Given the description of an element on the screen output the (x, y) to click on. 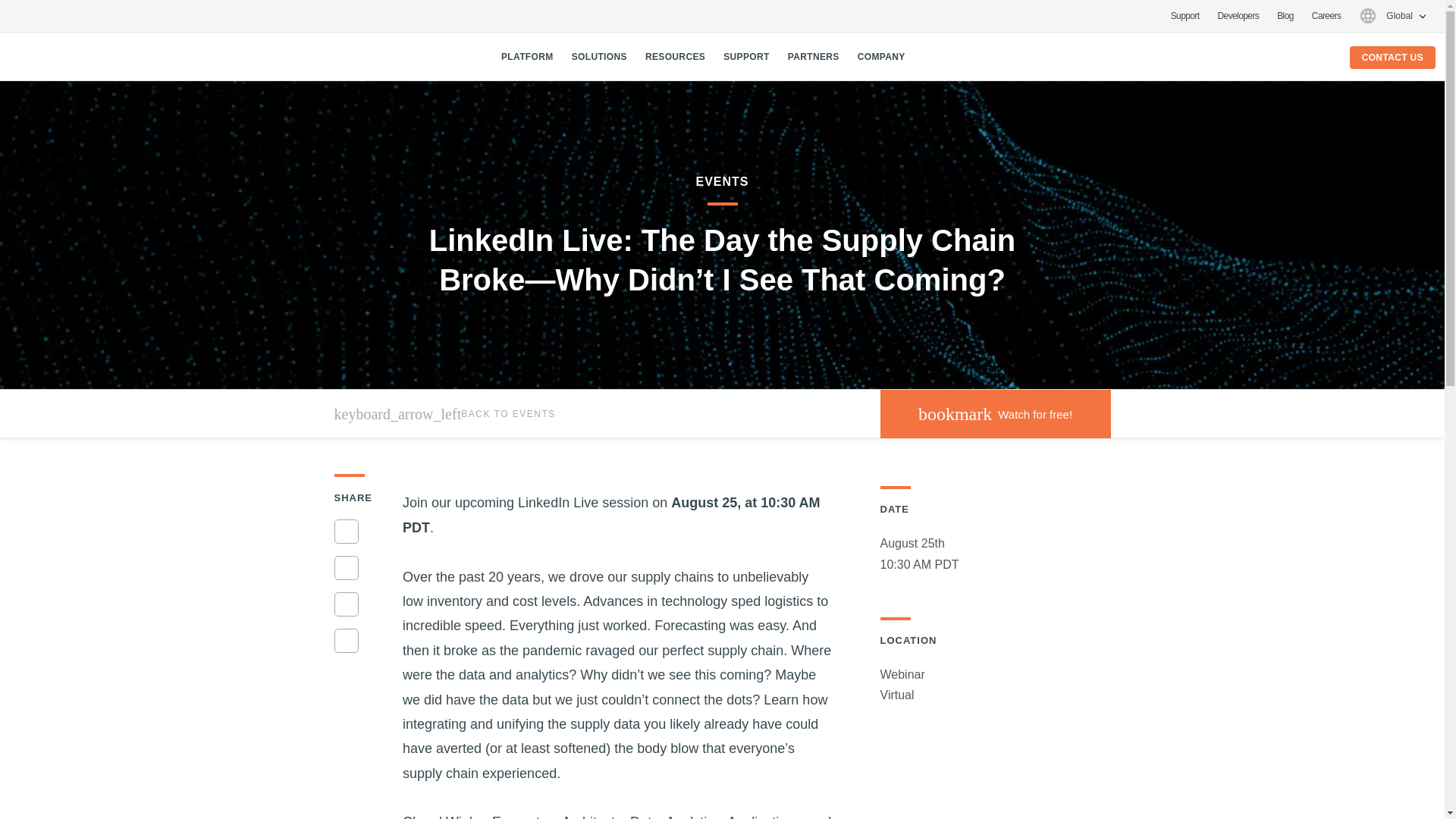
Blog (1285, 15)
Global (1392, 15)
PARTNERS (813, 55)
PLATFORM (526, 55)
CONTACT US (1392, 56)
Careers (1325, 15)
SOLUTIONS (599, 55)
COMPANY (881, 55)
SUPPORT (994, 413)
Developers (746, 55)
Support (1238, 15)
RESOURCES (1184, 15)
